Given the description of an element on the screen output the (x, y) to click on. 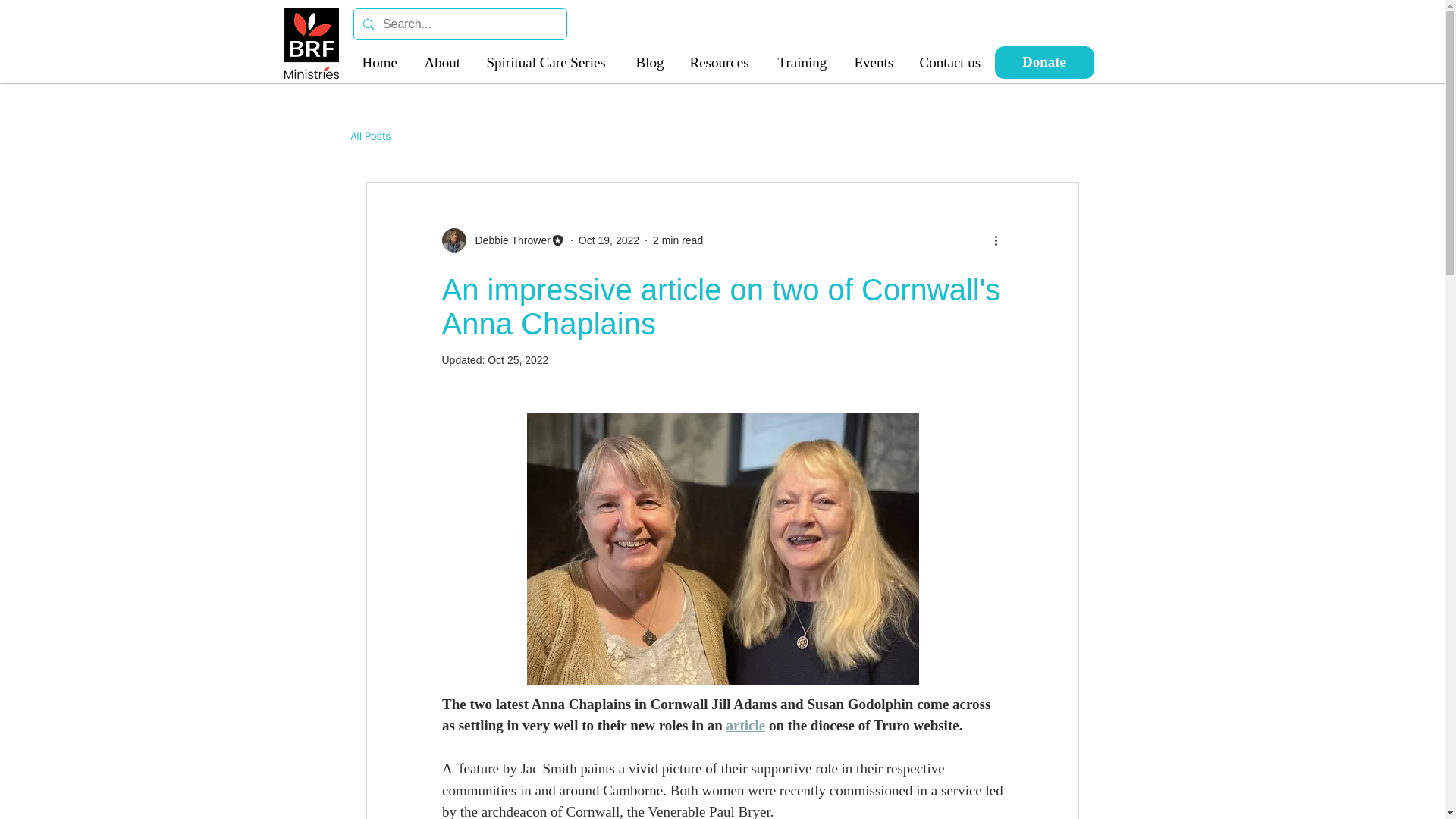
Home (381, 61)
Events (875, 61)
Oct 19, 2022 (608, 239)
Blog (651, 61)
Donate (1044, 61)
Debbie Thrower (507, 239)
Training (804, 61)
Oct 25, 2022 (517, 359)
2 min read (677, 239)
